Given the description of an element on the screen output the (x, y) to click on. 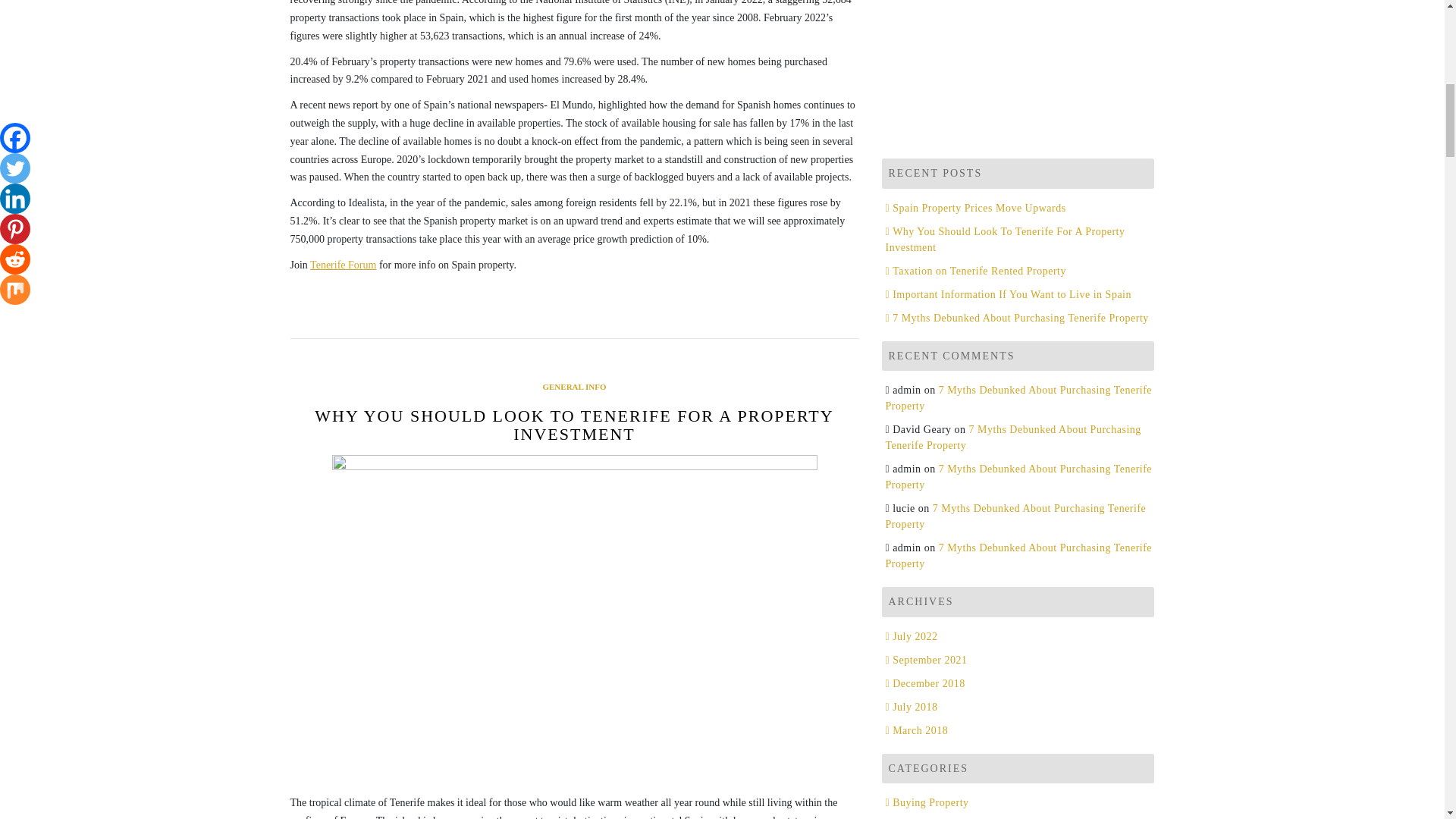
Tenerife Forum (342, 265)
WHY YOU SHOULD LOOK TO TENERIFE FOR A PROPERTY INVESTMENT (573, 424)
GENERAL INFO (573, 386)
